Given the description of an element on the screen output the (x, y) to click on. 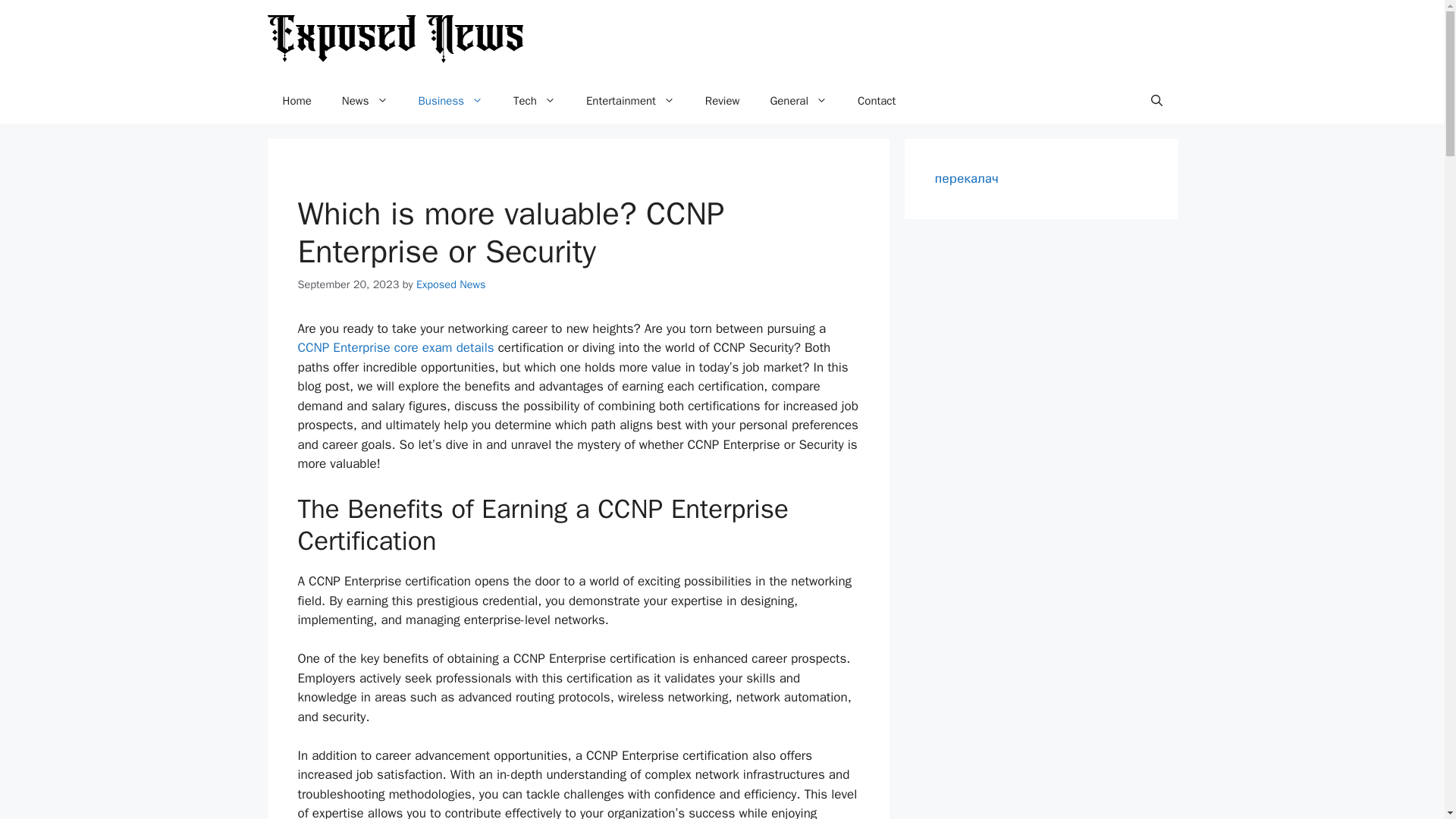
Tech (533, 100)
Review (722, 100)
Exposed News (451, 284)
News (364, 100)
Business (451, 100)
General (798, 100)
Entertainment (630, 100)
View all posts by Exposed News (451, 284)
Contact (877, 100)
Home (296, 100)
CCNP Enterprise core exam details (395, 347)
